Given the description of an element on the screen output the (x, y) to click on. 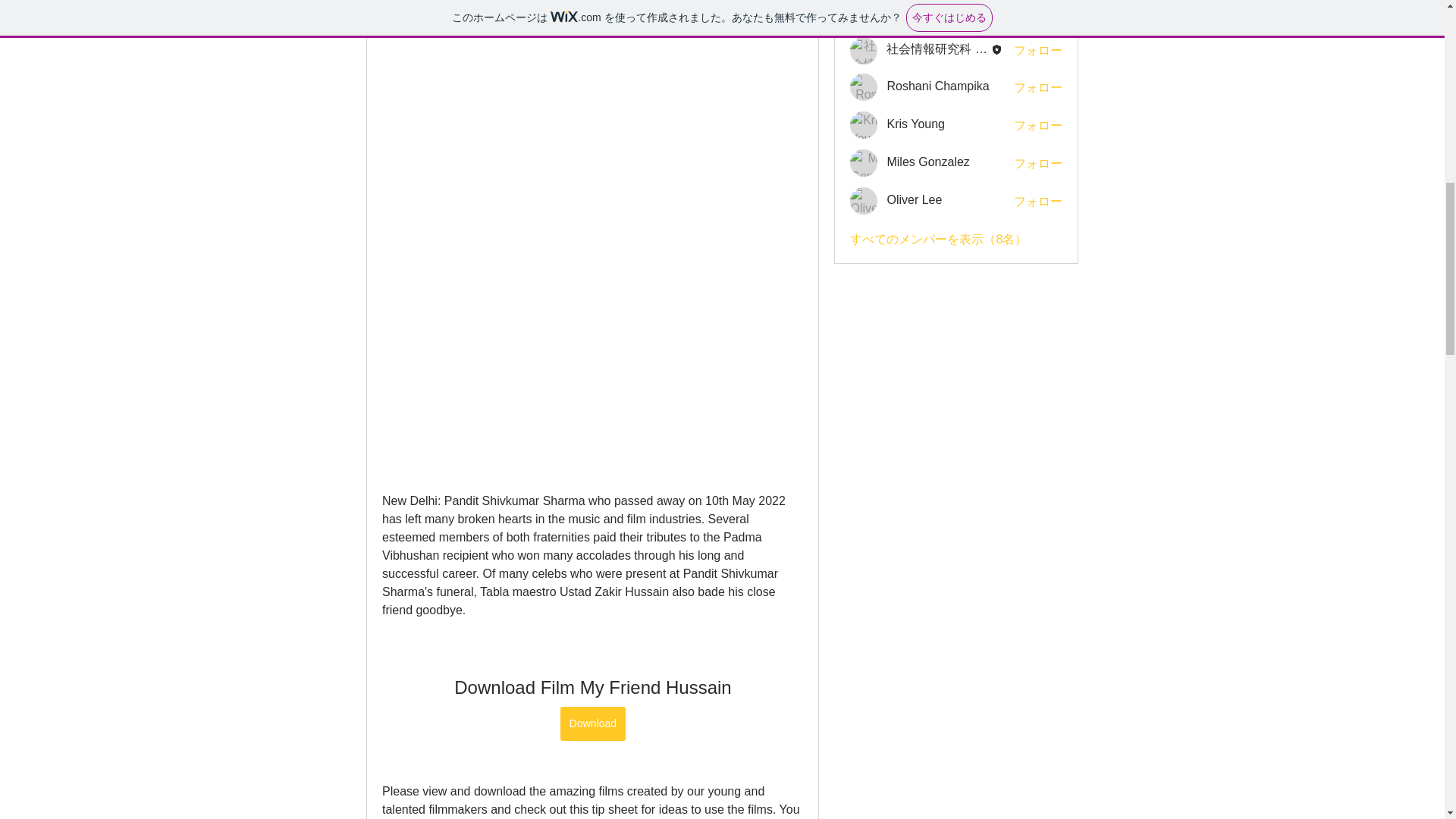
Oliver Lee (863, 200)
Oliver Lee (914, 199)
Kris Young (863, 124)
Roshani Champika (863, 86)
Miles Gonzalez (927, 161)
Roshani Champika (937, 85)
Kris Young (915, 123)
Download (591, 723)
Miles Gonzalez (863, 162)
